Given the description of an element on the screen output the (x, y) to click on. 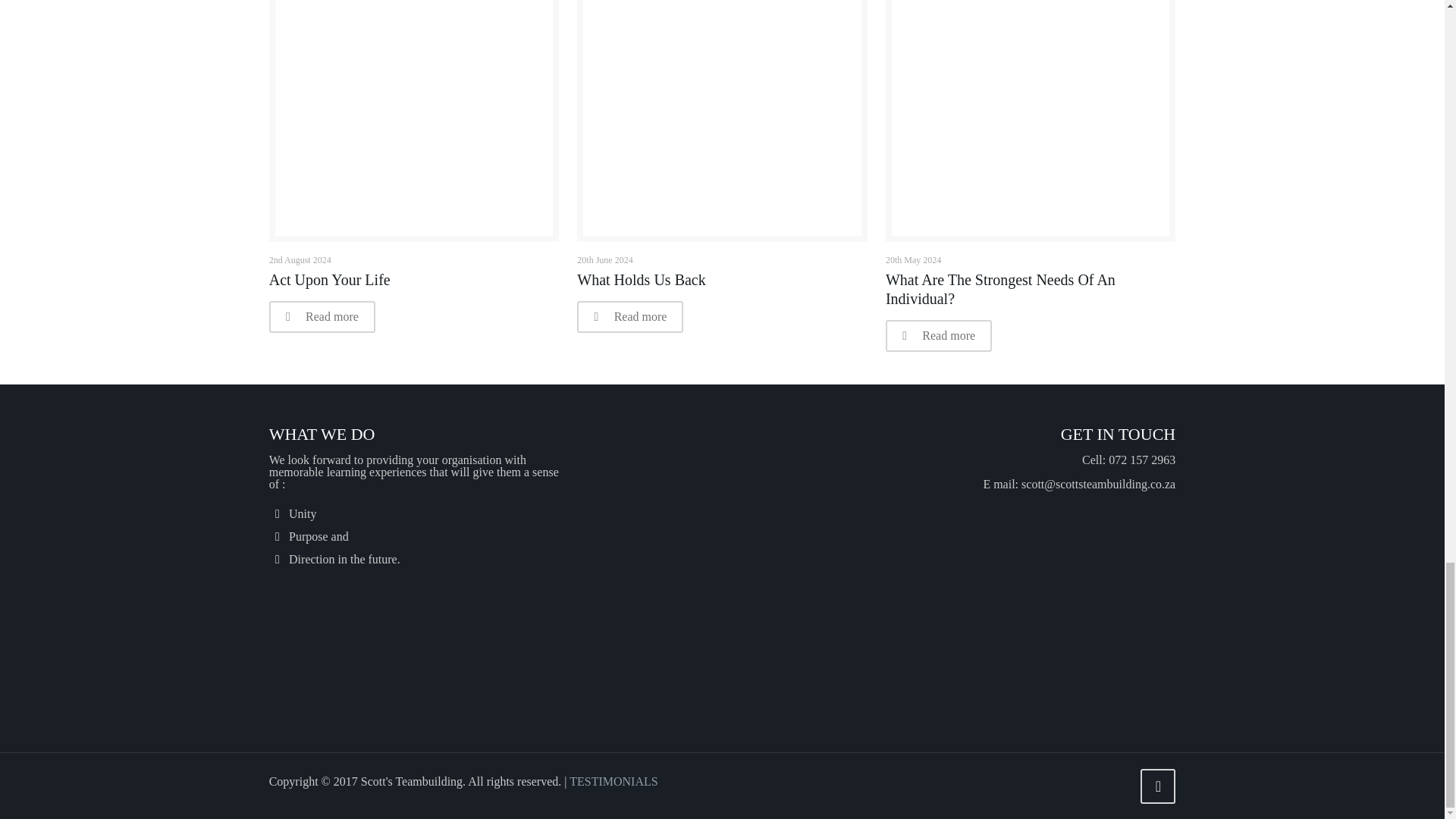
Read more (938, 336)
Read more (322, 316)
Read more (629, 316)
What Are The Strongest Needs Of An Individual? (1000, 289)
What Holds Us Back (640, 279)
TESTIMONIALS (613, 780)
Act Upon Your Life (329, 279)
